Given the description of an element on the screen output the (x, y) to click on. 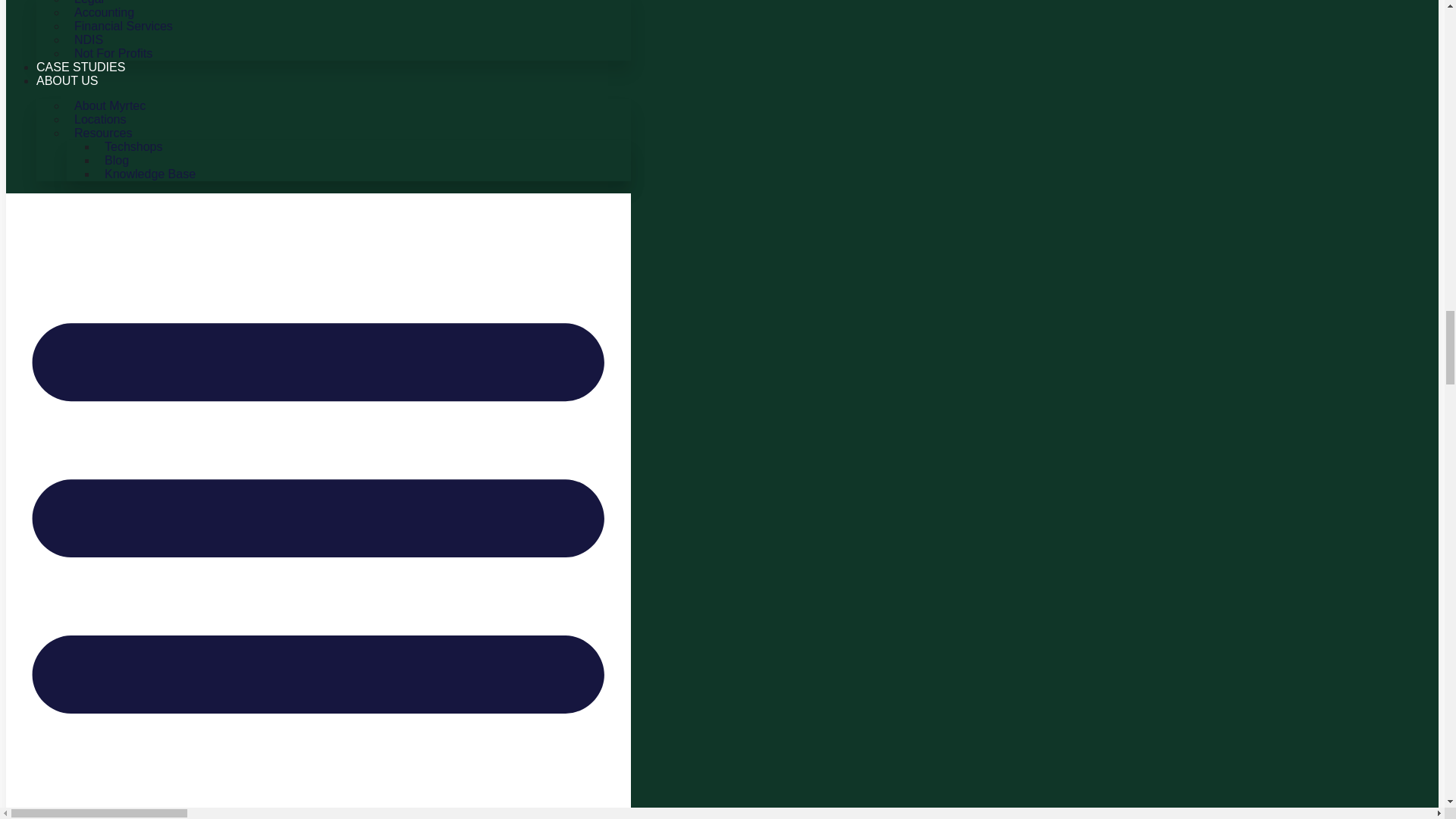
Locations (99, 118)
Resources (102, 132)
Financial Services (123, 25)
About Myrtec (109, 105)
ABOUT US (67, 80)
Blog (116, 159)
Legal (89, 10)
CASE STUDIES (80, 66)
Techshops (133, 146)
NDIS (88, 39)
